Given the description of an element on the screen output the (x, y) to click on. 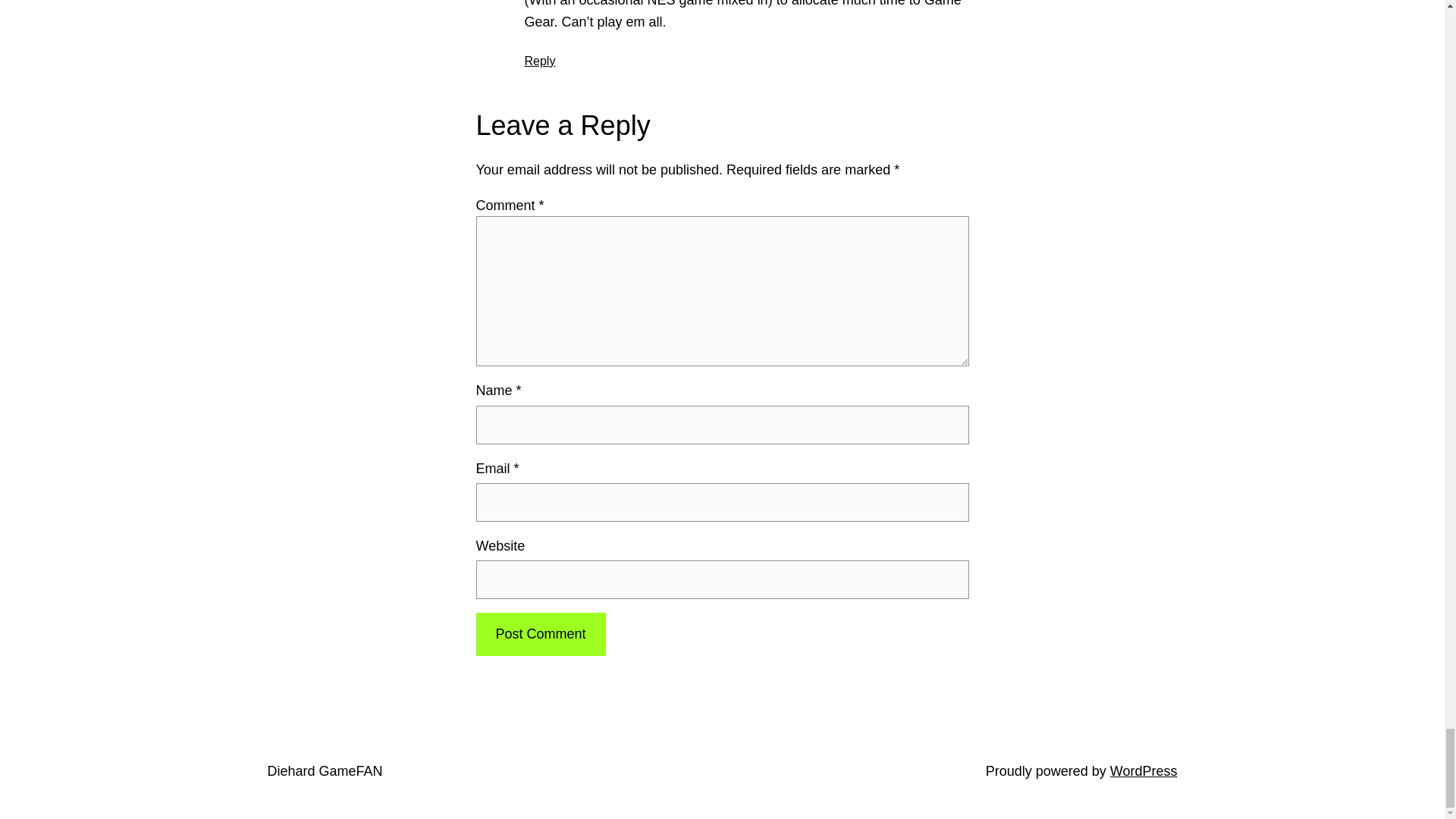
Reply (540, 60)
Diehard GameFAN (323, 770)
WordPress (1143, 770)
Post Comment (540, 634)
Post Comment (540, 634)
